Given the description of an element on the screen output the (x, y) to click on. 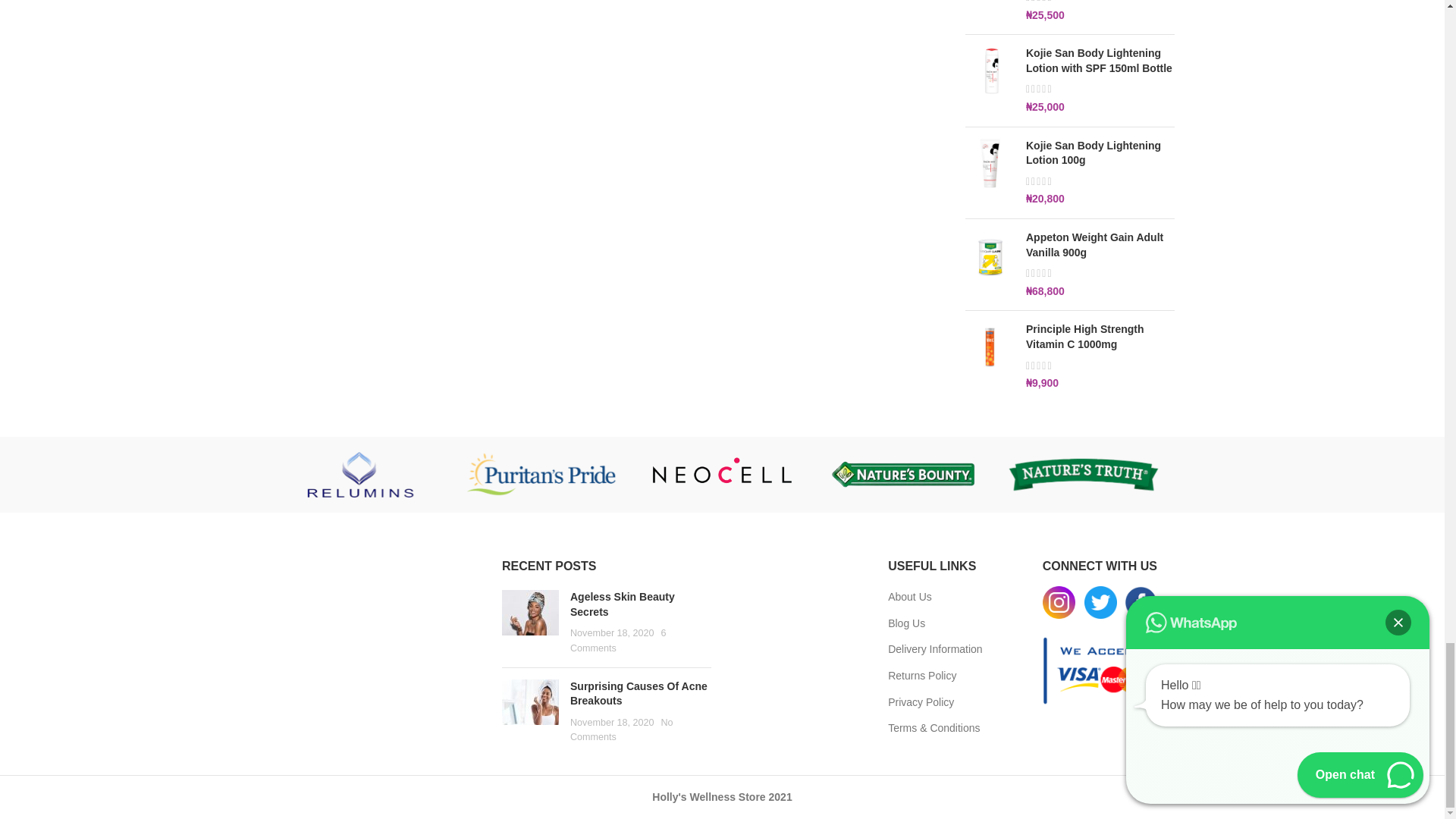
Kojie San Body Lightening Lotion 100g (1100, 153)
Kojie San Skin Lightening Kojic Acid Soap 3 Bars - 100g (989, 11)
Kojie San Body Lightening Lotion with SPF 150ml Bottle (1100, 60)
Relumins (359, 474)
Appeton Weight Gain Adult Vanilla 900g (1100, 245)
Principle High Strength Vitamin C 1000mg (1100, 337)
